Given the description of an element on the screen output the (x, y) to click on. 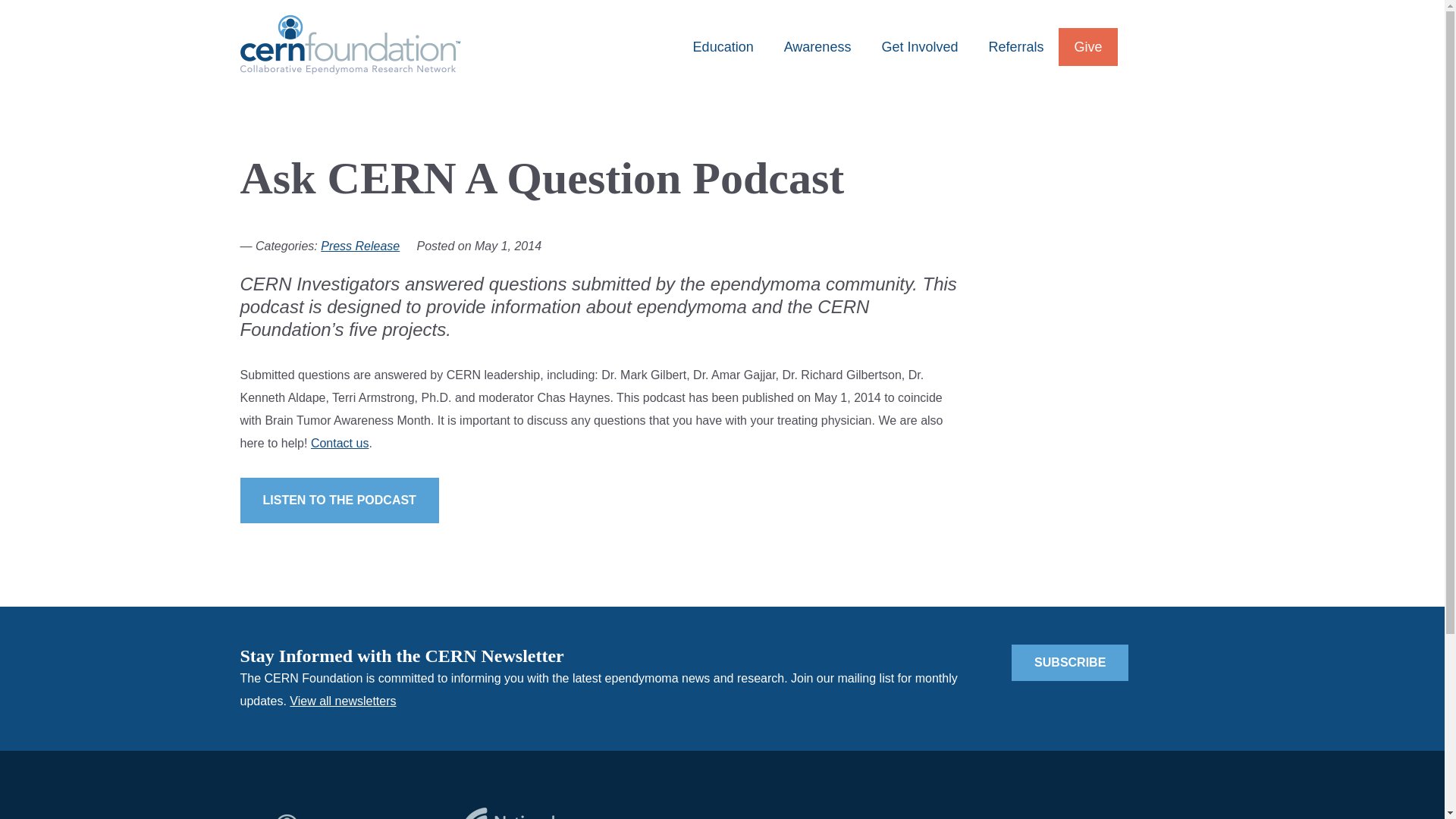
Press Release (359, 245)
Awareness (817, 46)
Contact us (339, 442)
Referrals (1015, 46)
SUBSCRIBE (1069, 662)
Education (723, 46)
Get Involved (919, 46)
Cern Foundation (350, 44)
LISTEN TO THE PODCAST (339, 500)
View all newsletters (342, 700)
